Given the description of an element on the screen output the (x, y) to click on. 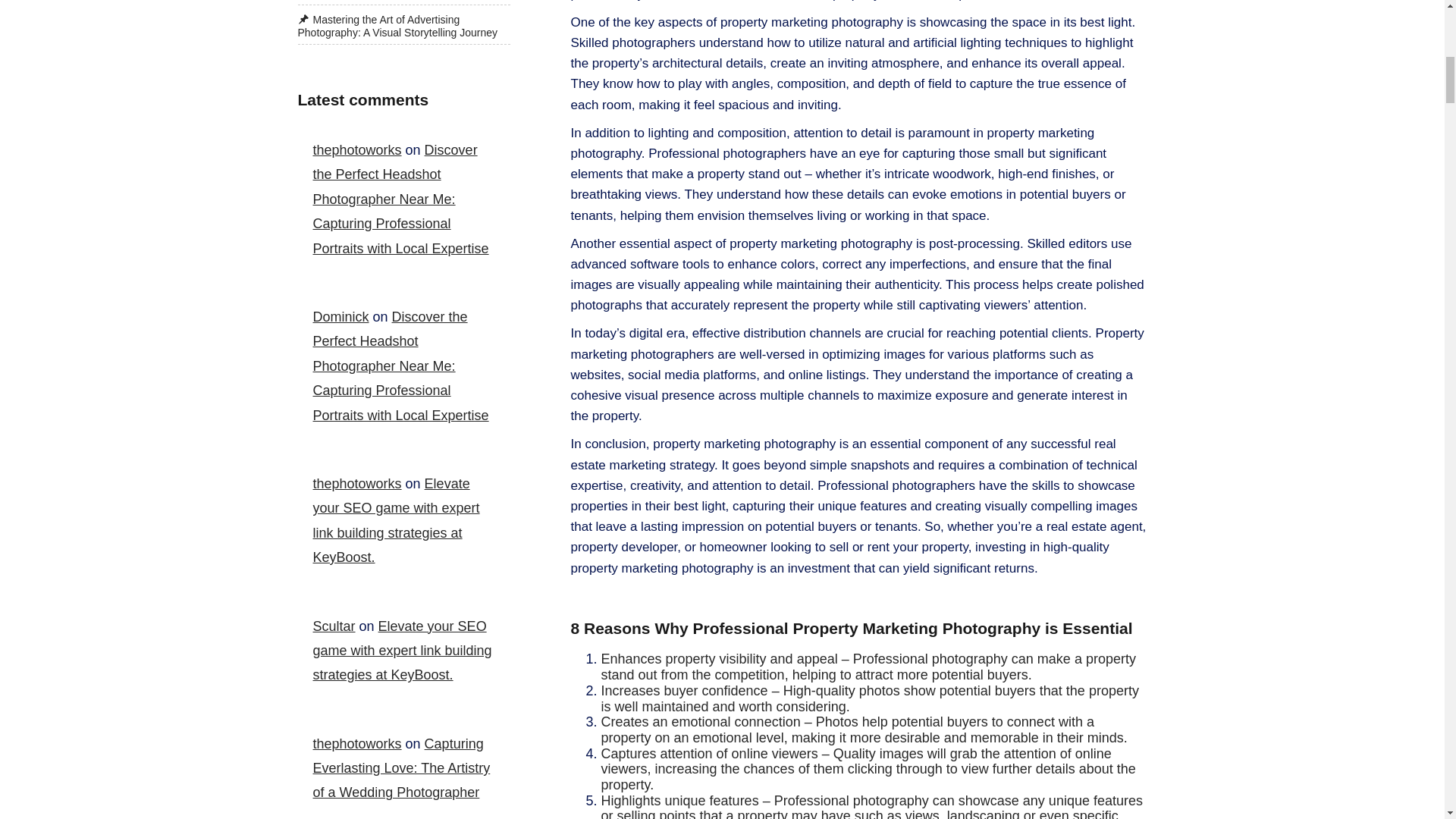
thephotoworks (357, 150)
Dominick (340, 316)
